Given the description of an element on the screen output the (x, y) to click on. 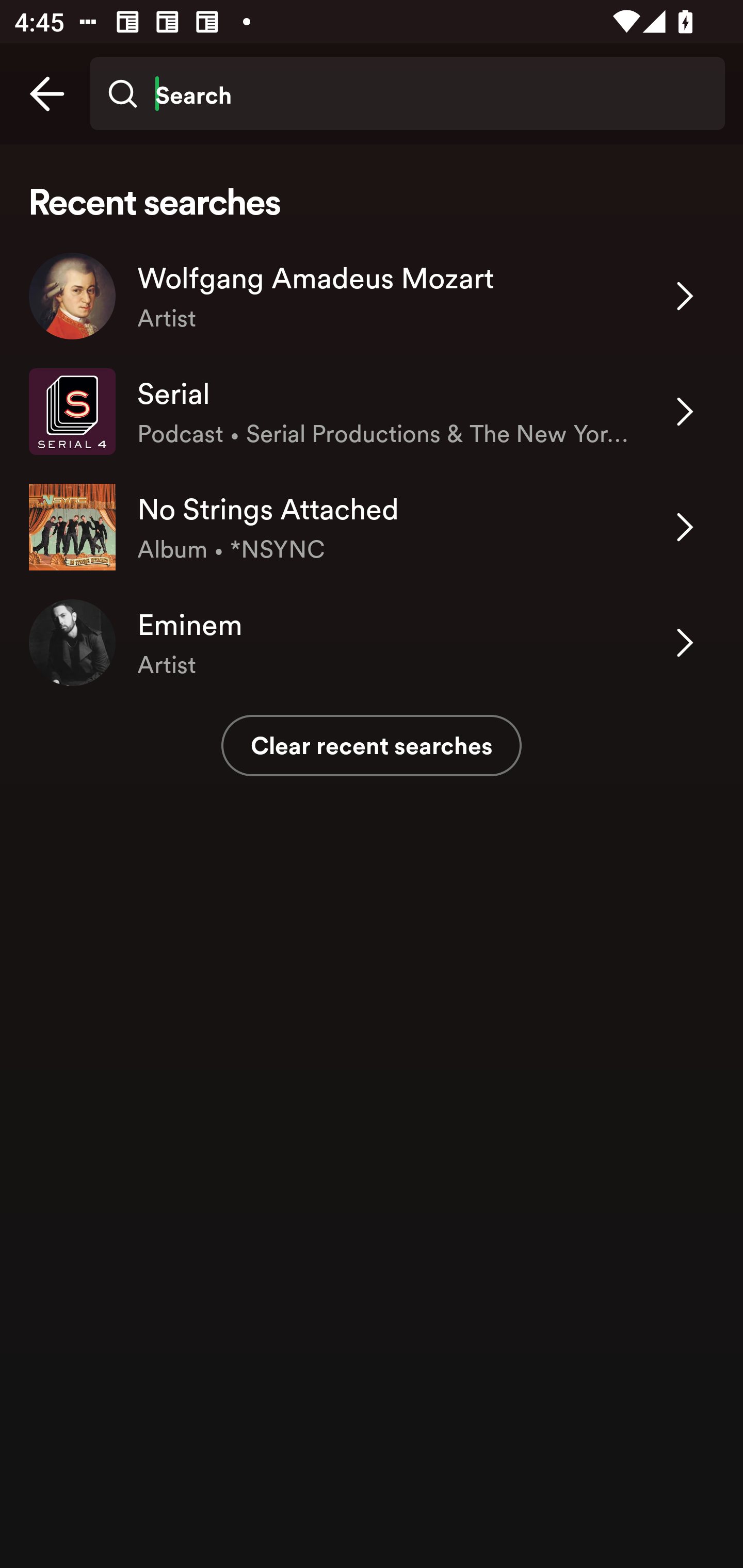
Back (46, 93)
Search (407, 94)
Wolfgang Amadeus Mozart Artist (371, 296)
No Strings Attached Album • *NSYNC (371, 526)
Eminem Artist (371, 642)
Clear recent searches (371, 745)
